Given the description of an element on the screen output the (x, y) to click on. 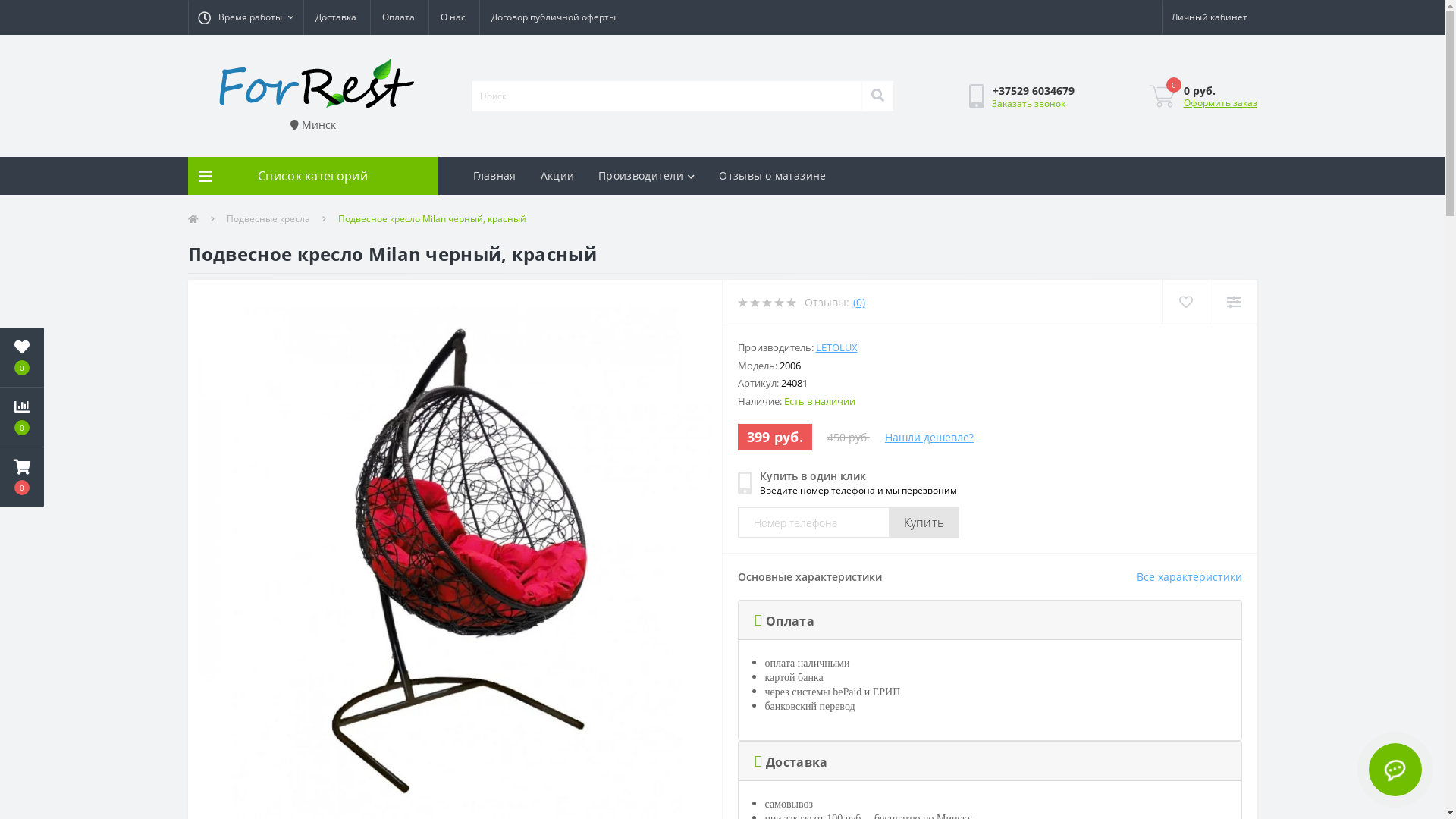
+37529 6034679 Element type: text (1033, 90)
(0) Element type: text (858, 302)
LETOLUX Element type: text (836, 347)
0 Element type: text (21, 356)
0 Element type: text (1161, 95)
0 Element type: text (21, 476)
0 Element type: text (21, 416)
